Given the description of an element on the screen output the (x, y) to click on. 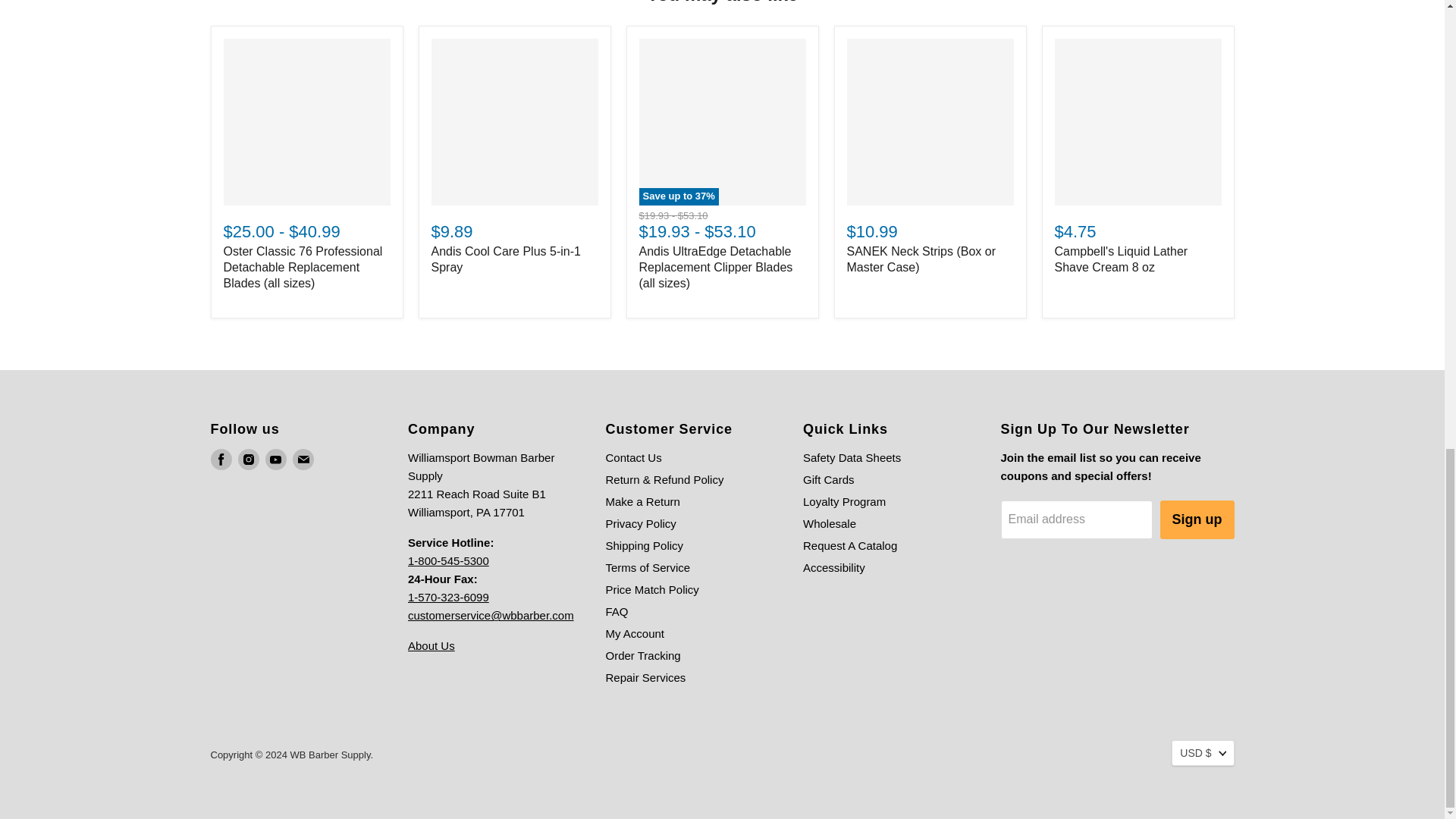
Youtube (275, 459)
tel:18005455300 (448, 560)
Email (303, 459)
Facebook (221, 459)
Instagram (248, 459)
tel:5703236099 (448, 596)
About (430, 645)
